Given the description of an element on the screen output the (x, y) to click on. 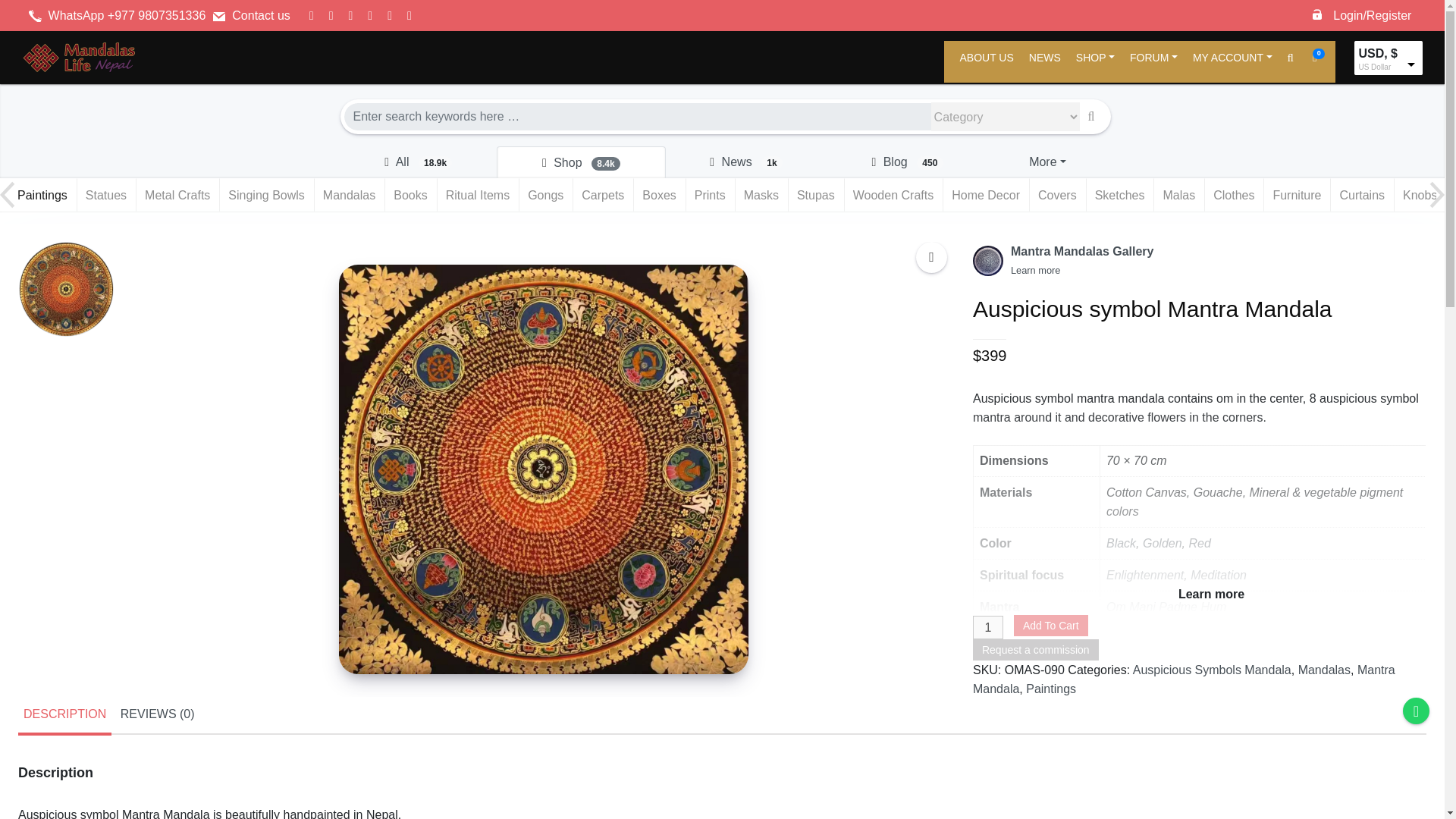
Search in all (417, 161)
Search in news (746, 161)
Search in blog (907, 161)
ABOUT US (986, 61)
FORUM (1153, 61)
1 (987, 627)
Shop 8.4k (580, 162)
MY ACCOUNT (1232, 61)
Search in shop (580, 162)
Contact us (260, 15)
